Given the description of an element on the screen output the (x, y) to click on. 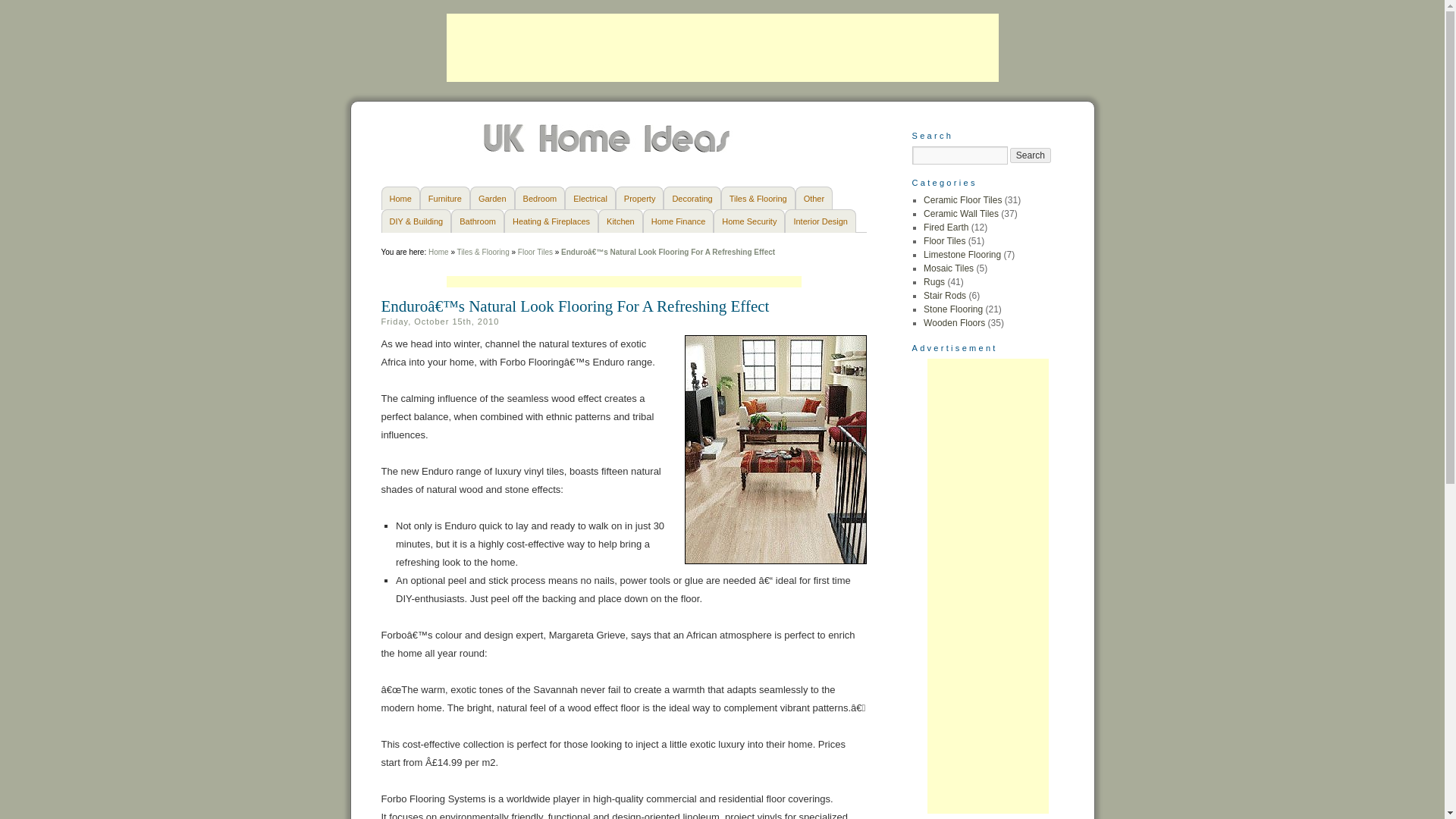
Floor Tiles (535, 252)
Mosaic Tiles (948, 267)
Ceramic Wall Tiles (960, 213)
Limestone Flooring (962, 254)
Furniture (445, 197)
Other (813, 197)
Interior Design (820, 220)
Stone Flooring (952, 308)
Floor Tiles (944, 240)
Home (399, 197)
Kitchen (620, 220)
Ceramic Floor Tiles (962, 199)
Stair Rods (944, 295)
Home Finance (678, 220)
UK Home Ideas (608, 149)
